Given the description of an element on the screen output the (x, y) to click on. 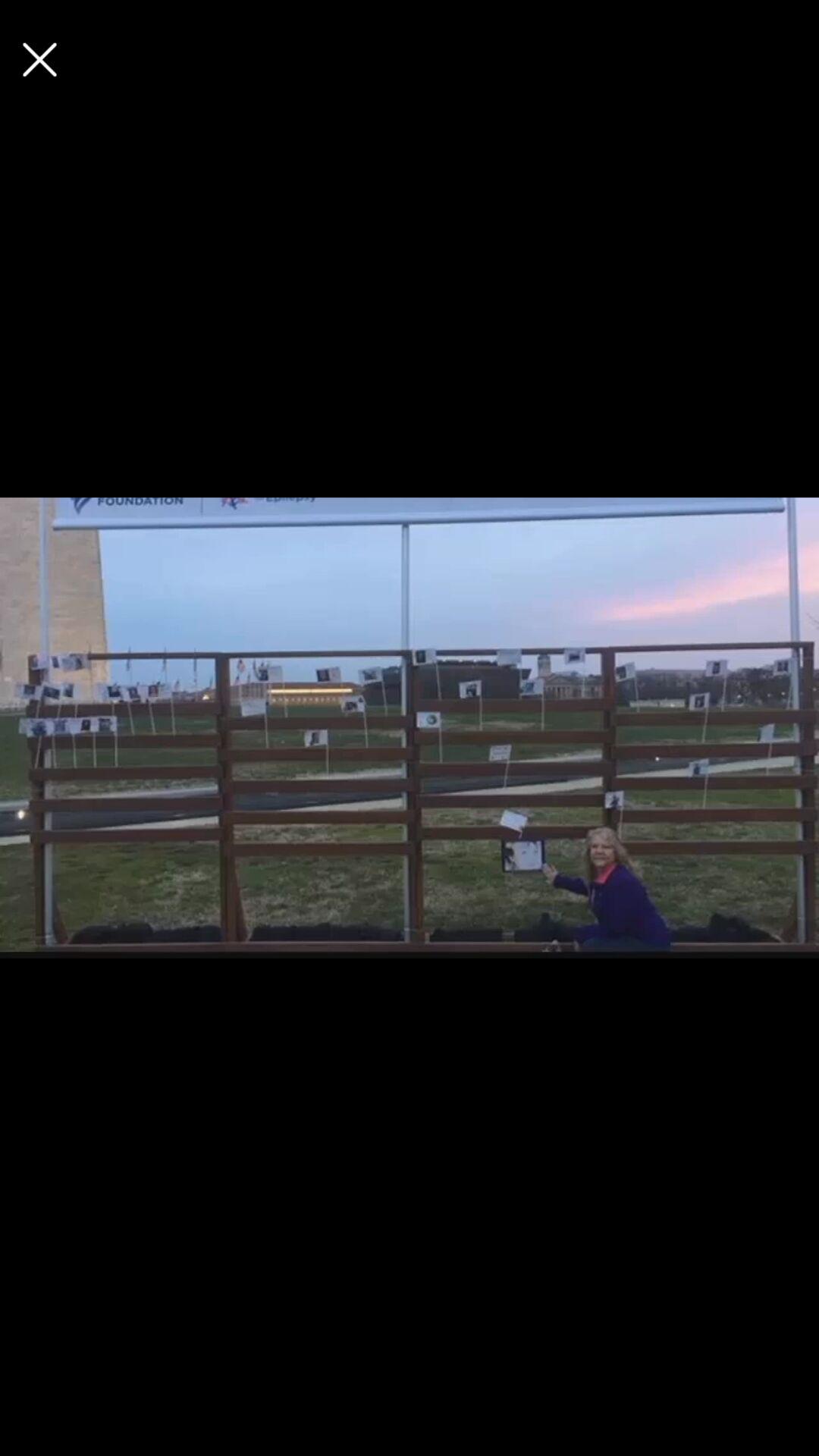
close page (39, 59)
